Given the description of an element on the screen output the (x, y) to click on. 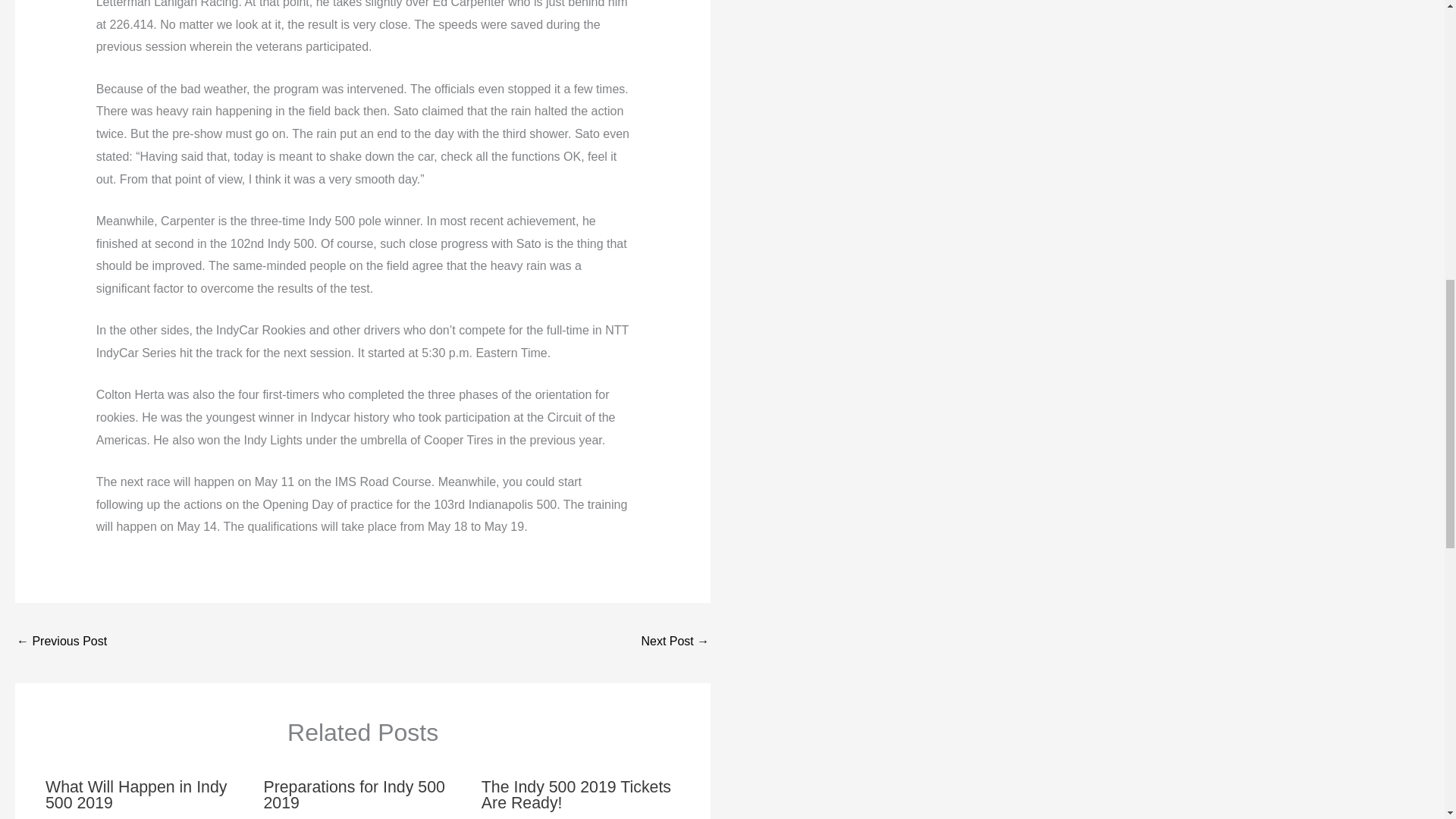
Preparations for Indy 500 2019 (354, 795)
Danica Patrick Makes Comeback in Indianapolis 500 2019 (61, 642)
The Indy 500 2019 Tickets Are Ready! (576, 795)
What Will Happen in Indy 500 2019 (136, 795)
